Given the description of an element on the screen output the (x, y) to click on. 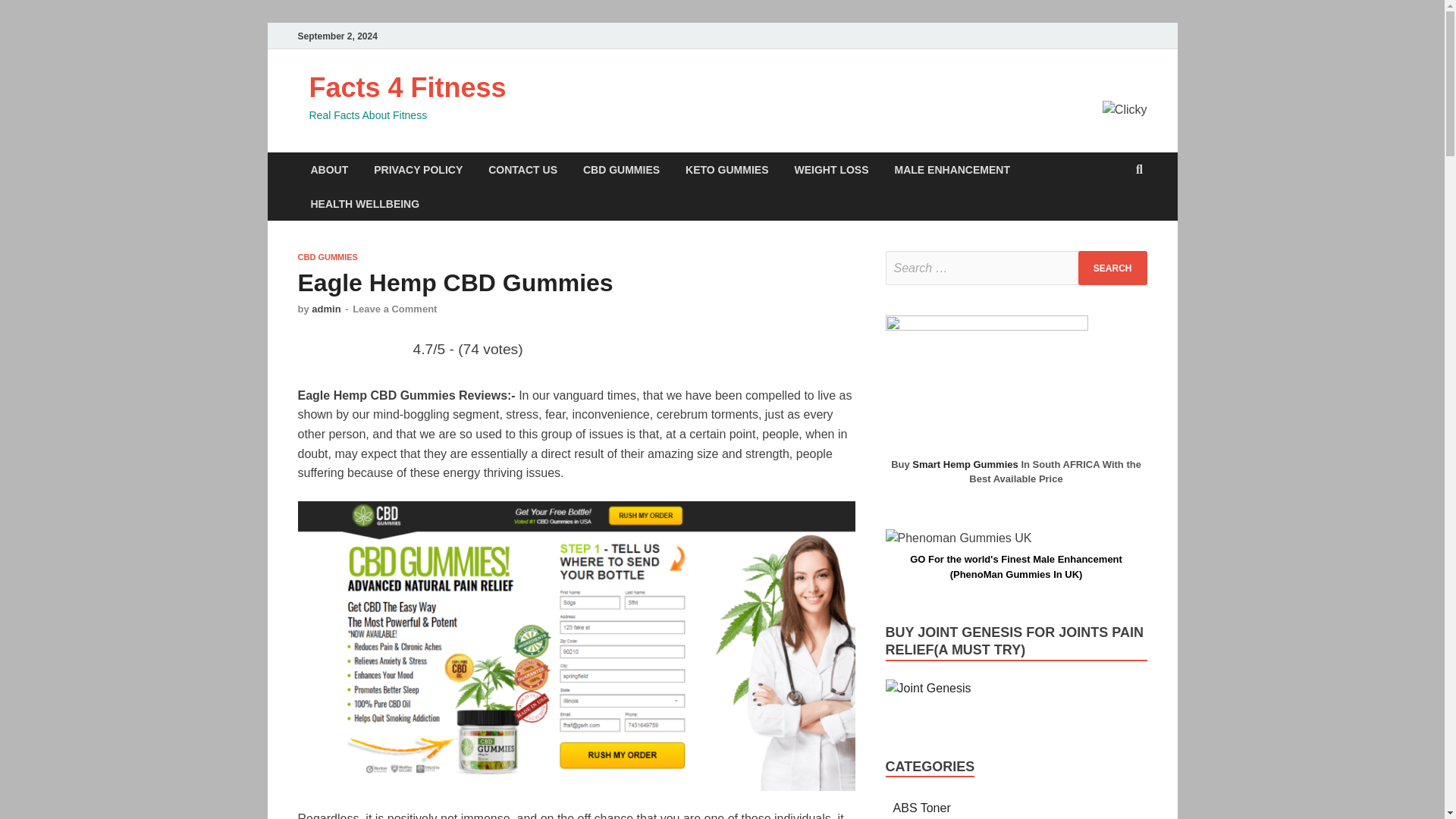
ABOUT (329, 169)
GO For the world's Finest Male Enhancement (1016, 559)
MALE ENHANCEMENT (952, 169)
Smart Hemp Gummies (964, 463)
PRIVACY POLICY (418, 169)
Search (1112, 267)
Search (1112, 267)
CBD GUMMIES (326, 256)
Buy Smilz CBD Gummies Best Deal Here (928, 688)
Facts 4 Fitness (407, 87)
